Given the description of an element on the screen output the (x, y) to click on. 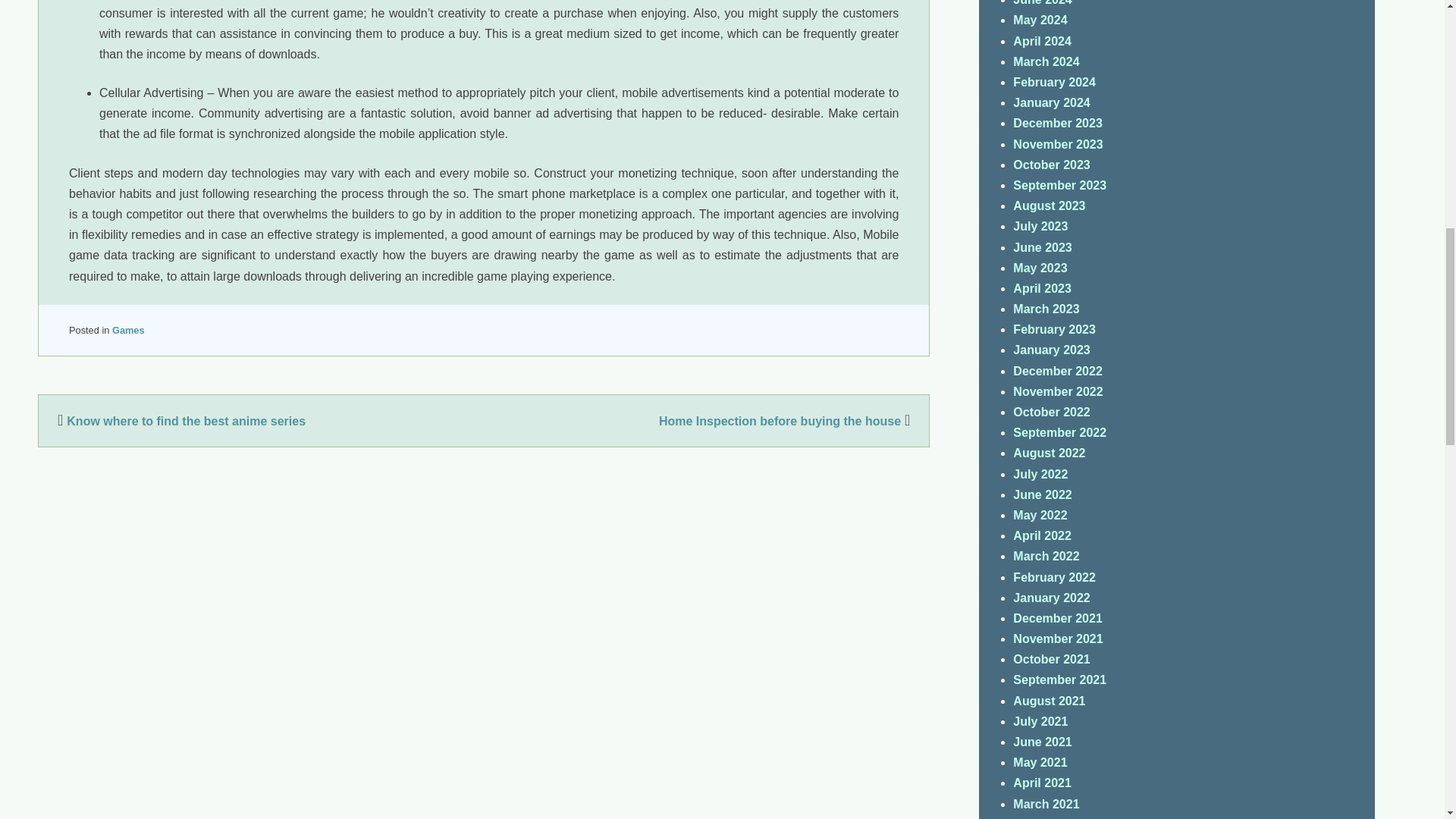
May 2023 (1040, 267)
March 2024 (1045, 61)
August 2023 (1048, 205)
August 2022 (1048, 452)
April 2024 (1041, 41)
March 2023 (1045, 308)
December 2023 (1057, 123)
October 2023 (1051, 164)
April 2023 (1041, 287)
May 2024 (1040, 19)
September 2023 (1059, 185)
November 2022 (1057, 391)
June 2024 (1042, 2)
Home Inspection before buying the house (786, 420)
December 2022 (1057, 370)
